Given the description of an element on the screen output the (x, y) to click on. 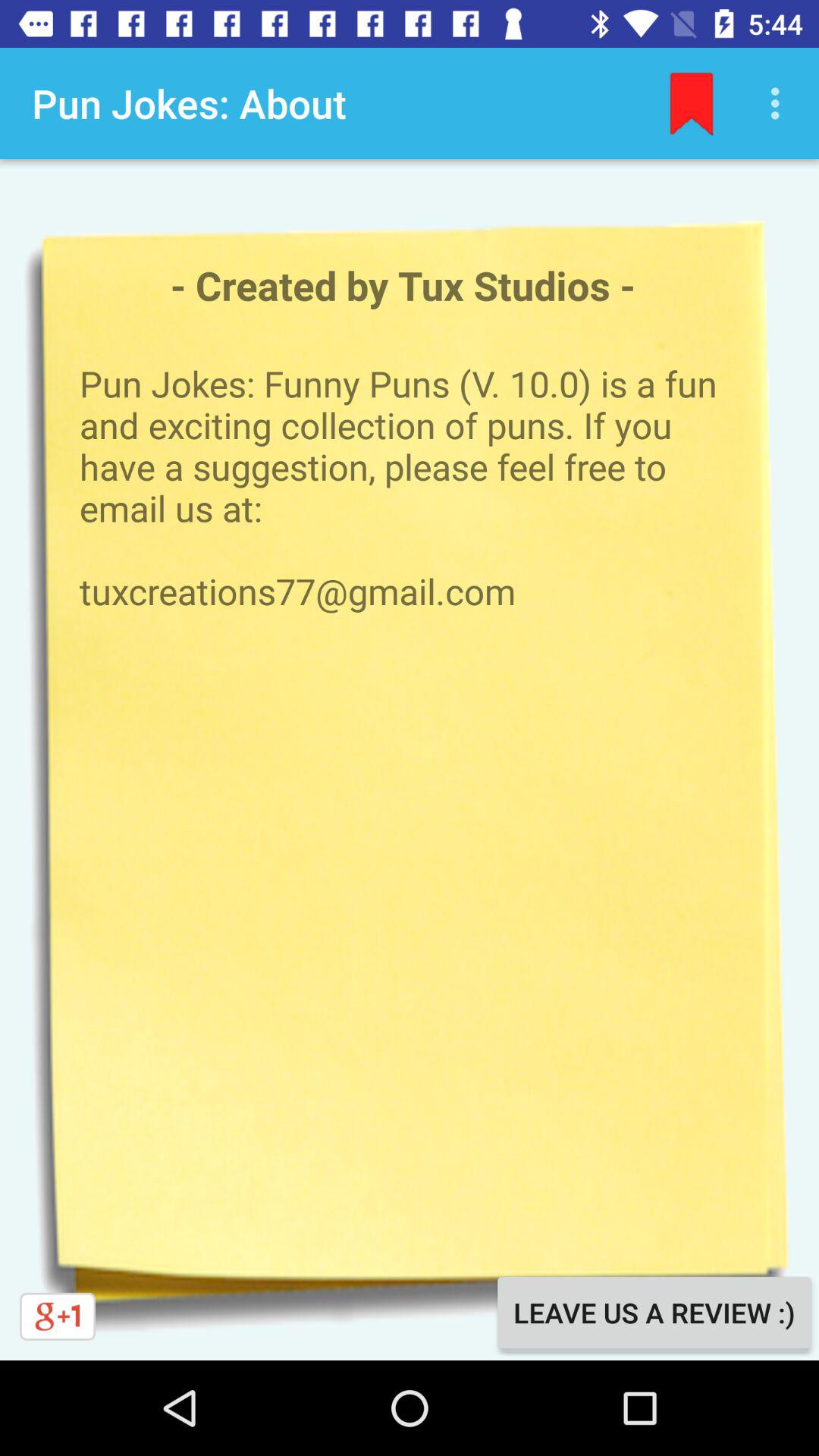
select item next to the pun jokes: about icon (691, 103)
